Given the description of an element on the screen output the (x, y) to click on. 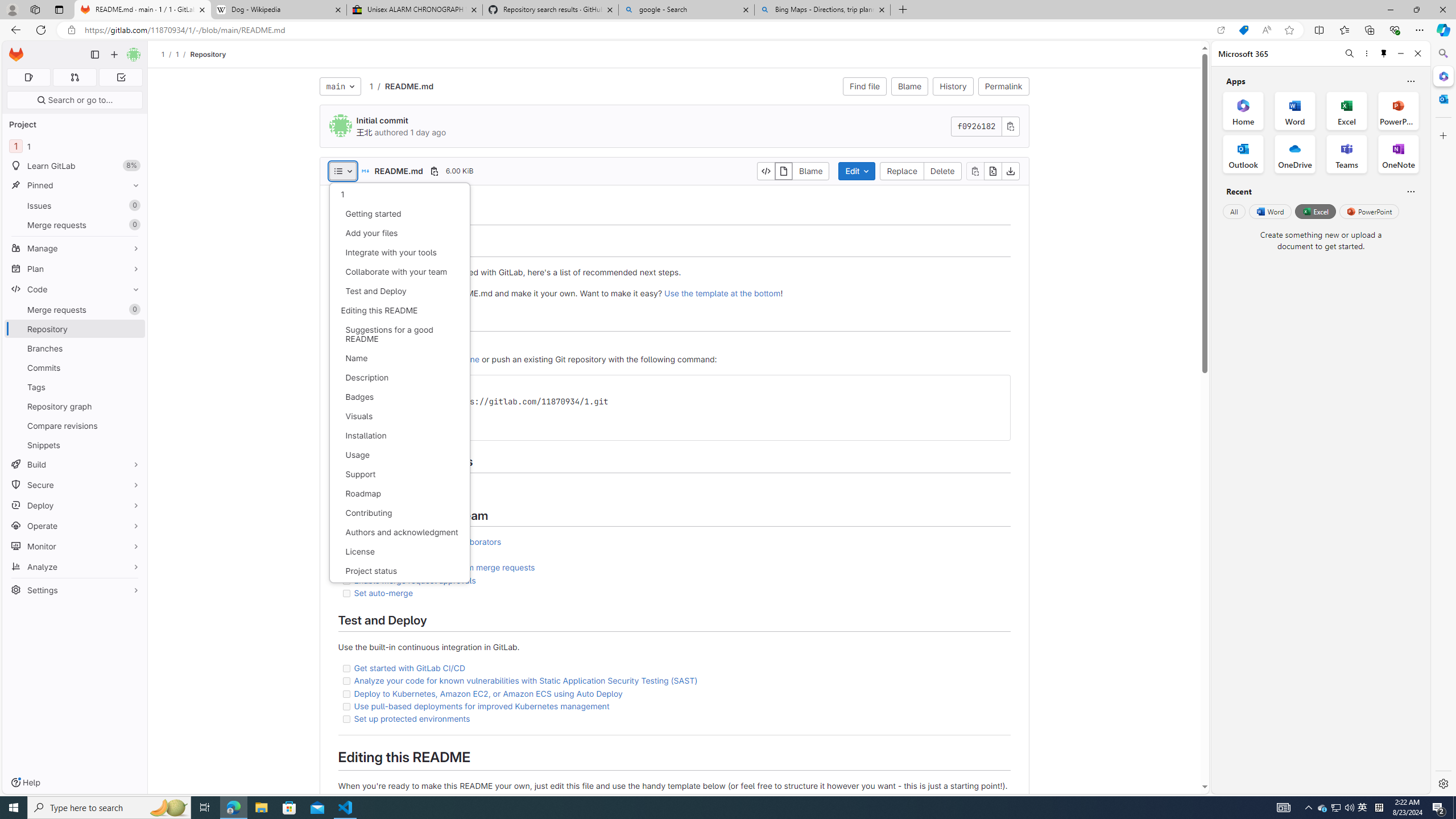
Copy file contents (974, 171)
Analyze (74, 566)
Download (1010, 171)
Dog - Wikipedia (277, 9)
Display source (766, 171)
Description (399, 377)
main (339, 85)
README.md (408, 85)
License (399, 551)
